Given the description of an element on the screen output the (x, y) to click on. 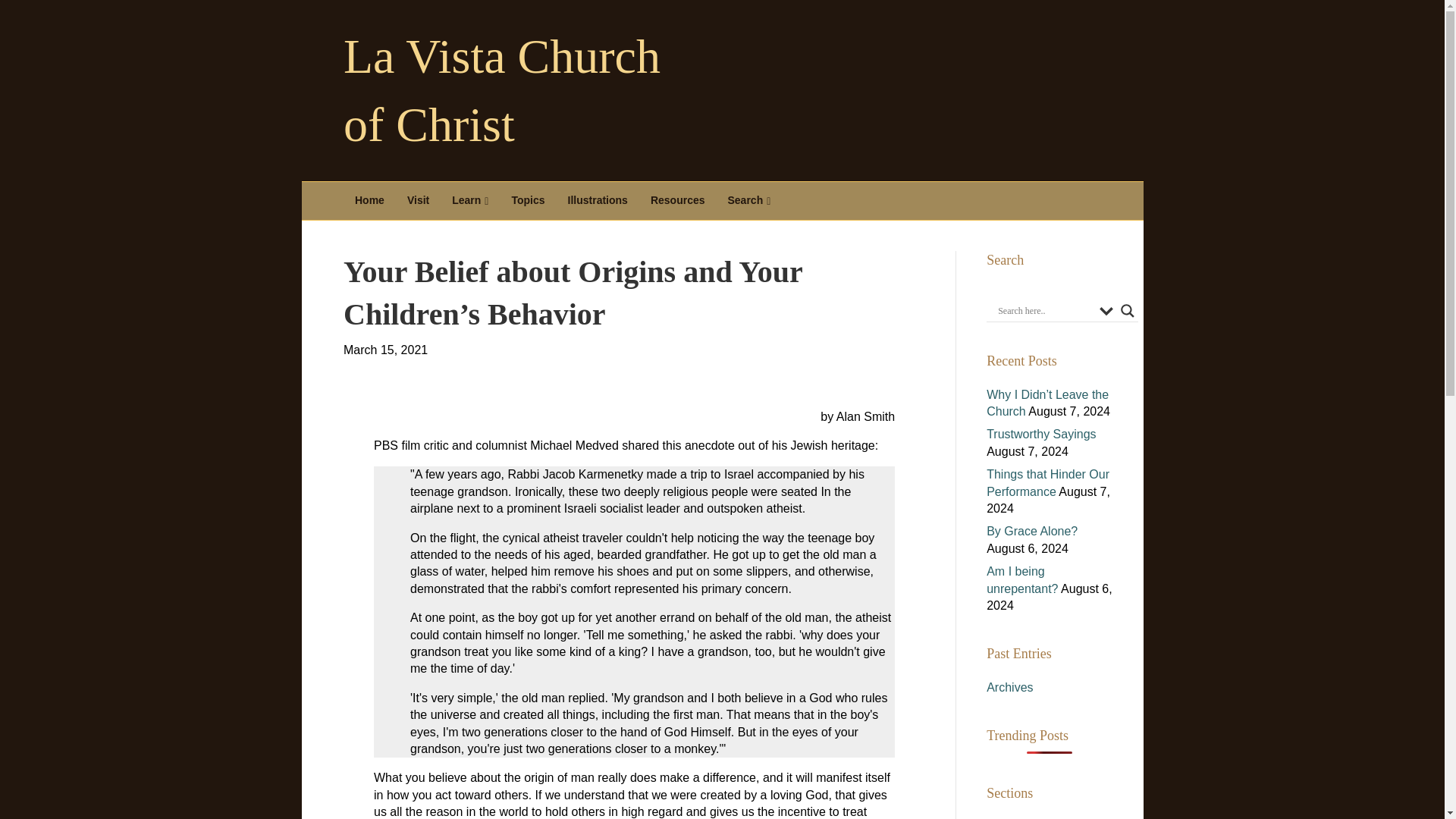
La Vista Church of Christ (521, 90)
Search (748, 200)
Visit (418, 200)
Home (369, 200)
Learn (470, 200)
Topics (527, 200)
Illustrations (597, 200)
Resources (677, 200)
